Given the description of an element on the screen output the (x, y) to click on. 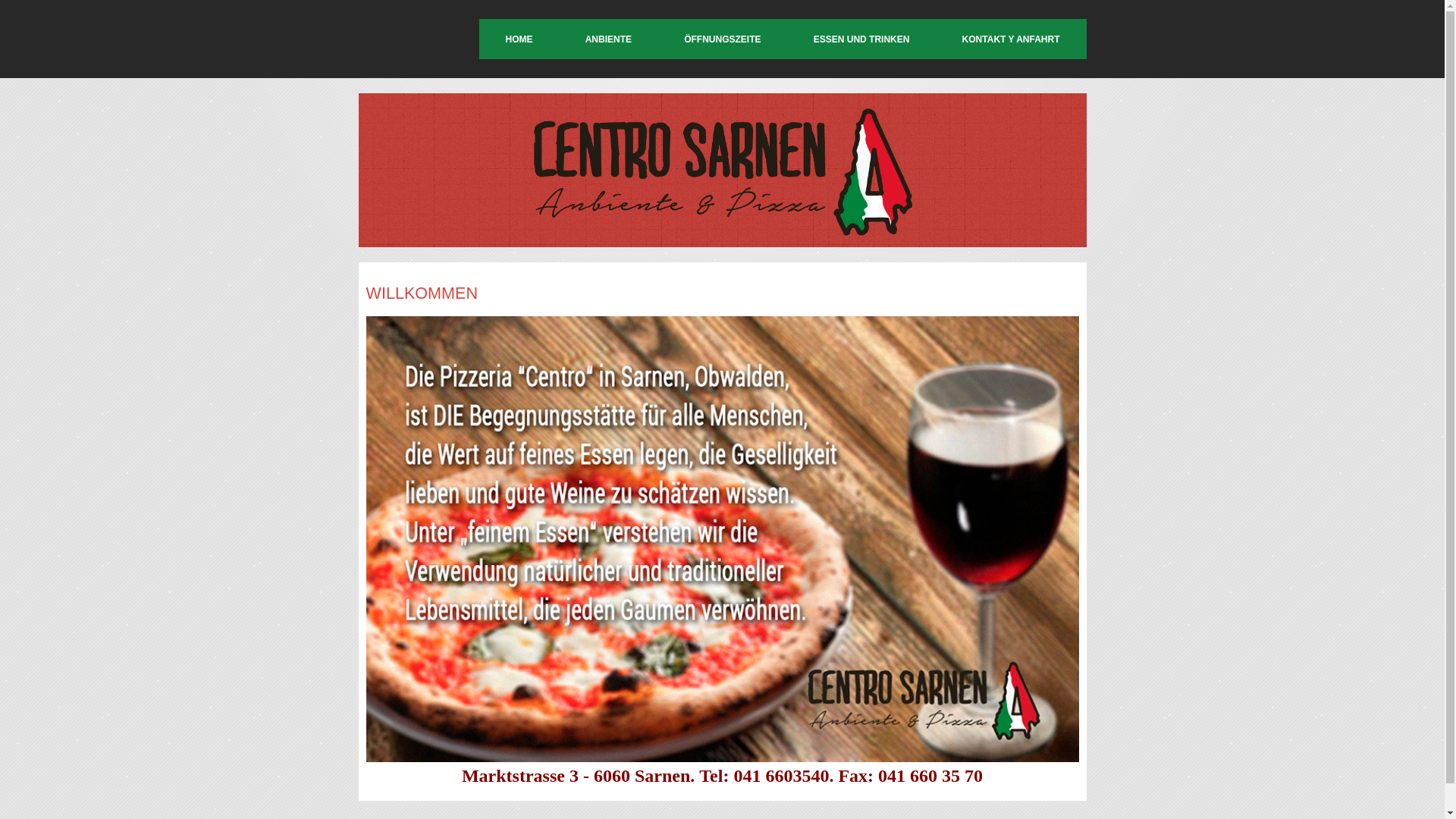
KONTAKT Y ANFAHRT Element type: text (1011, 39)
ANBIENTE Element type: text (608, 39)
ESSEN UND TRINKEN Element type: text (861, 39)
WILLKOMMEN Element type: text (421, 292)
HOME Element type: text (518, 39)
